Given the description of an element on the screen output the (x, y) to click on. 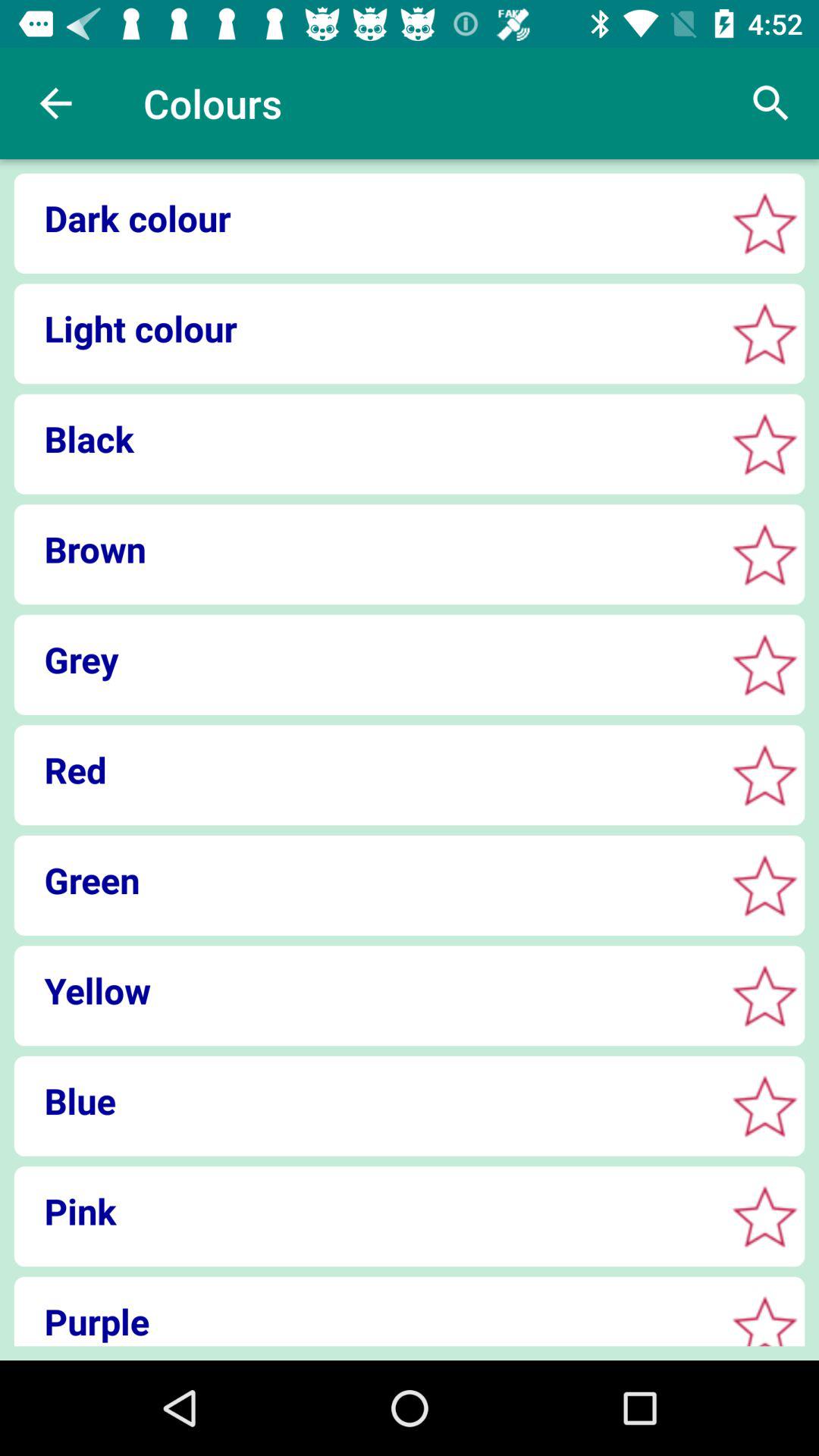
click the icon below light colour (364, 438)
